Given the description of an element on the screen output the (x, y) to click on. 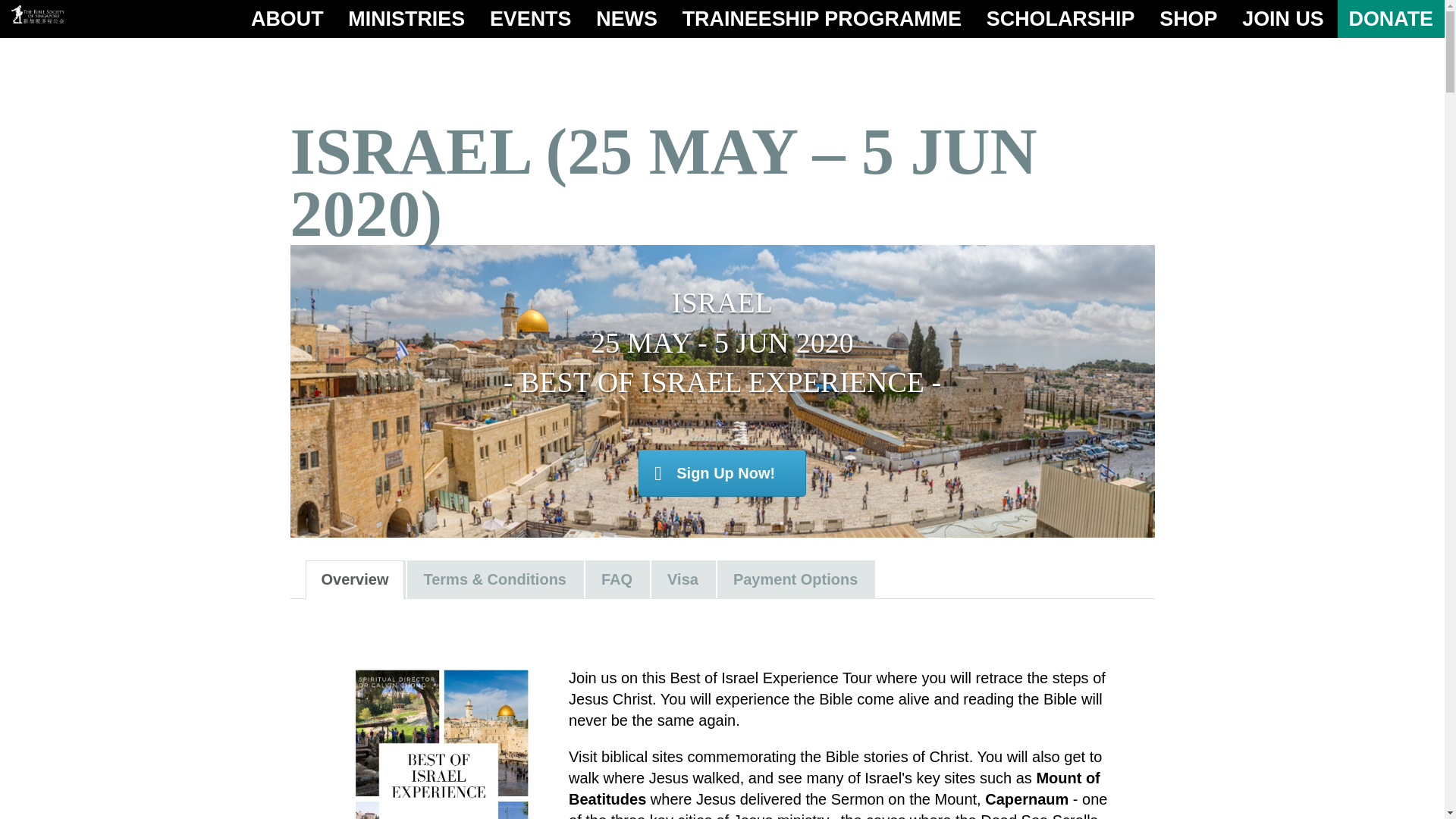
Overview (354, 579)
SCHOLARSHIP (1061, 18)
FAQ (616, 579)
EVENTS (531, 18)
SHOP (1188, 18)
Payment Options (795, 579)
MINISTRIES (406, 18)
NEWS (626, 18)
MINISTRIES (406, 18)
ABOUT (287, 18)
Cover Page (440, 743)
NEWS (626, 18)
JOIN US (1282, 18)
JOIN US (1282, 18)
ABOUT (287, 18)
